Given the description of an element on the screen output the (x, y) to click on. 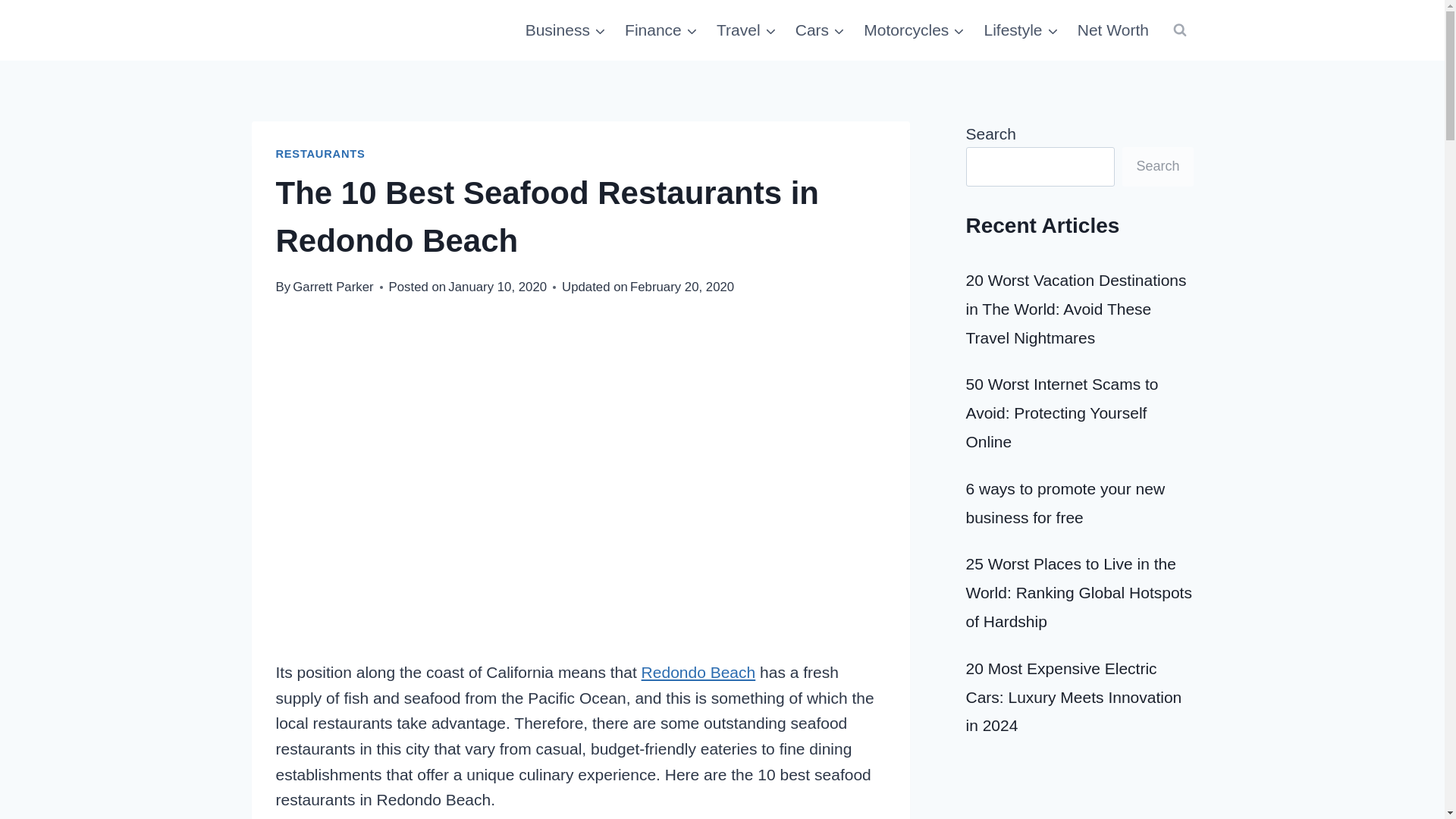
Finance (661, 30)
Cars (820, 30)
Travel (746, 30)
Business (564, 30)
